Given the description of an element on the screen output the (x, y) to click on. 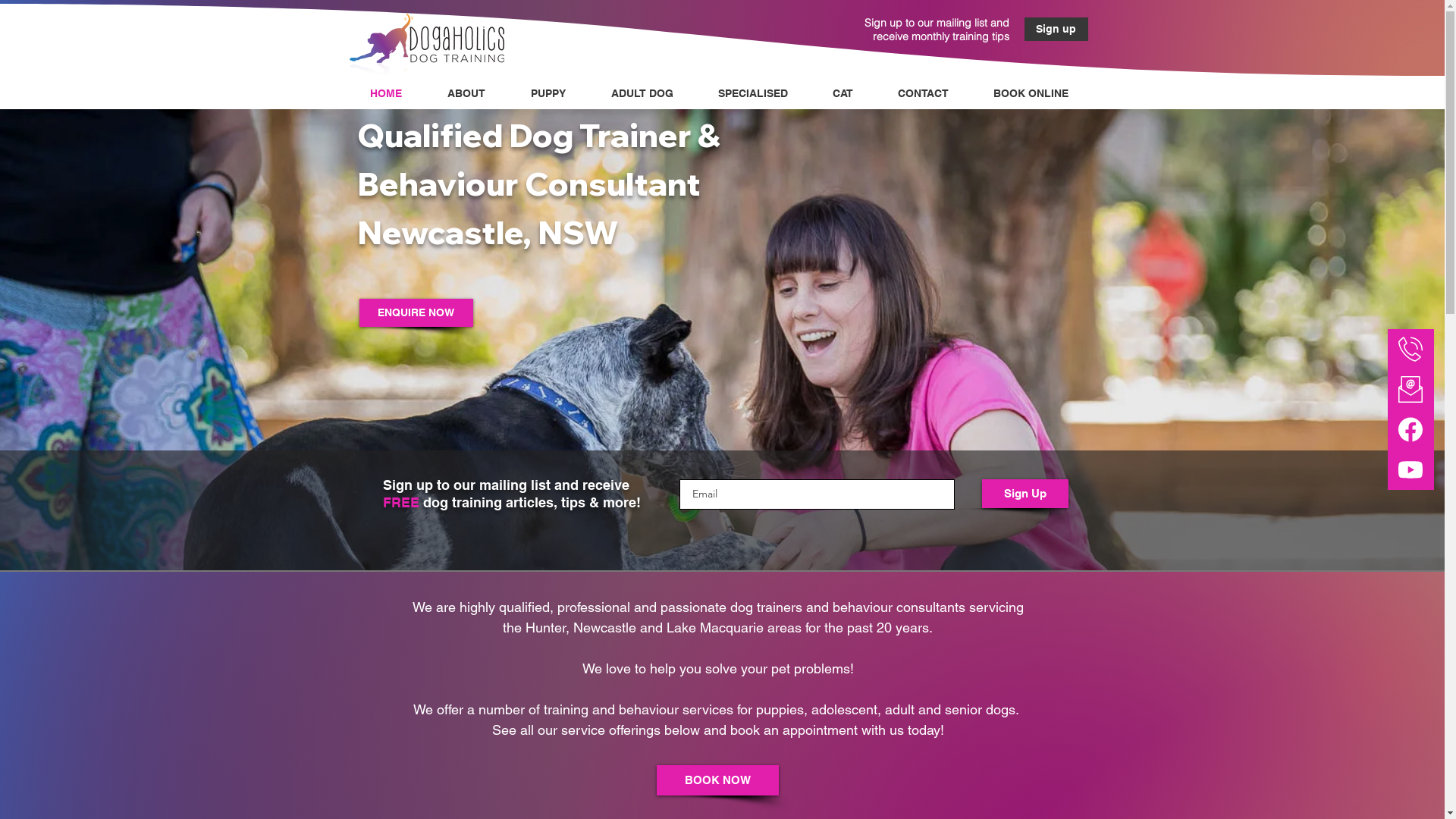
Sign Up Element type: text (1024, 493)
CONTACT Element type: text (925, 93)
HOME Element type: text (388, 93)
ENQUIRE NOW Element type: text (416, 312)
SPECIALISED Element type: text (756, 93)
BOOK ONLINE Element type: text (1033, 93)
Sign up Element type: text (1055, 28)
CAT Element type: text (845, 93)
ADULT DOG Element type: text (644, 93)
PUPPY Element type: text (551, 93)
ABOUT Element type: text (469, 93)
BOOK NOW Element type: text (717, 780)
